Given the description of an element on the screen output the (x, y) to click on. 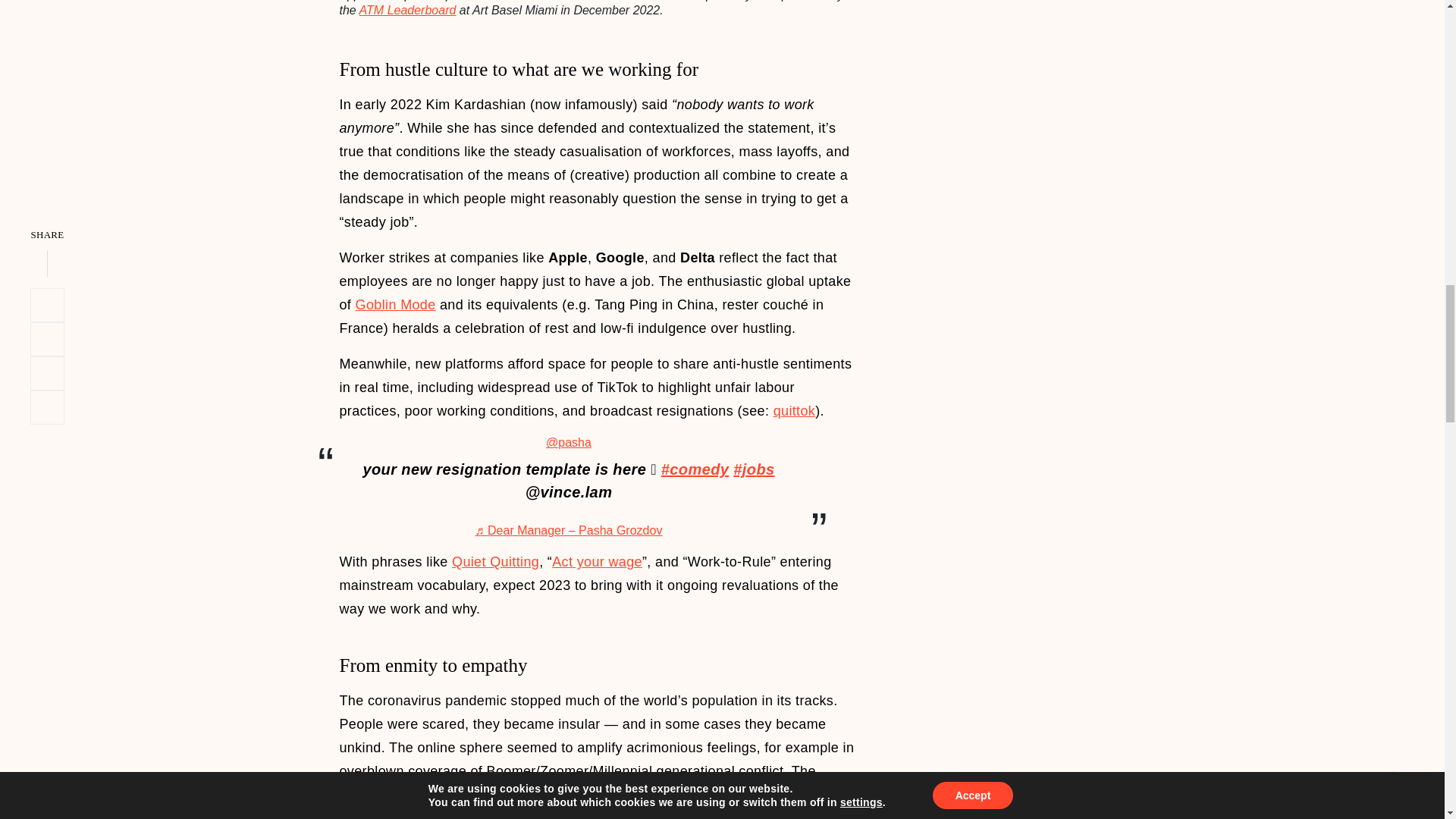
jobs (753, 469)
comedy (695, 469)
